Given the description of an element on the screen output the (x, y) to click on. 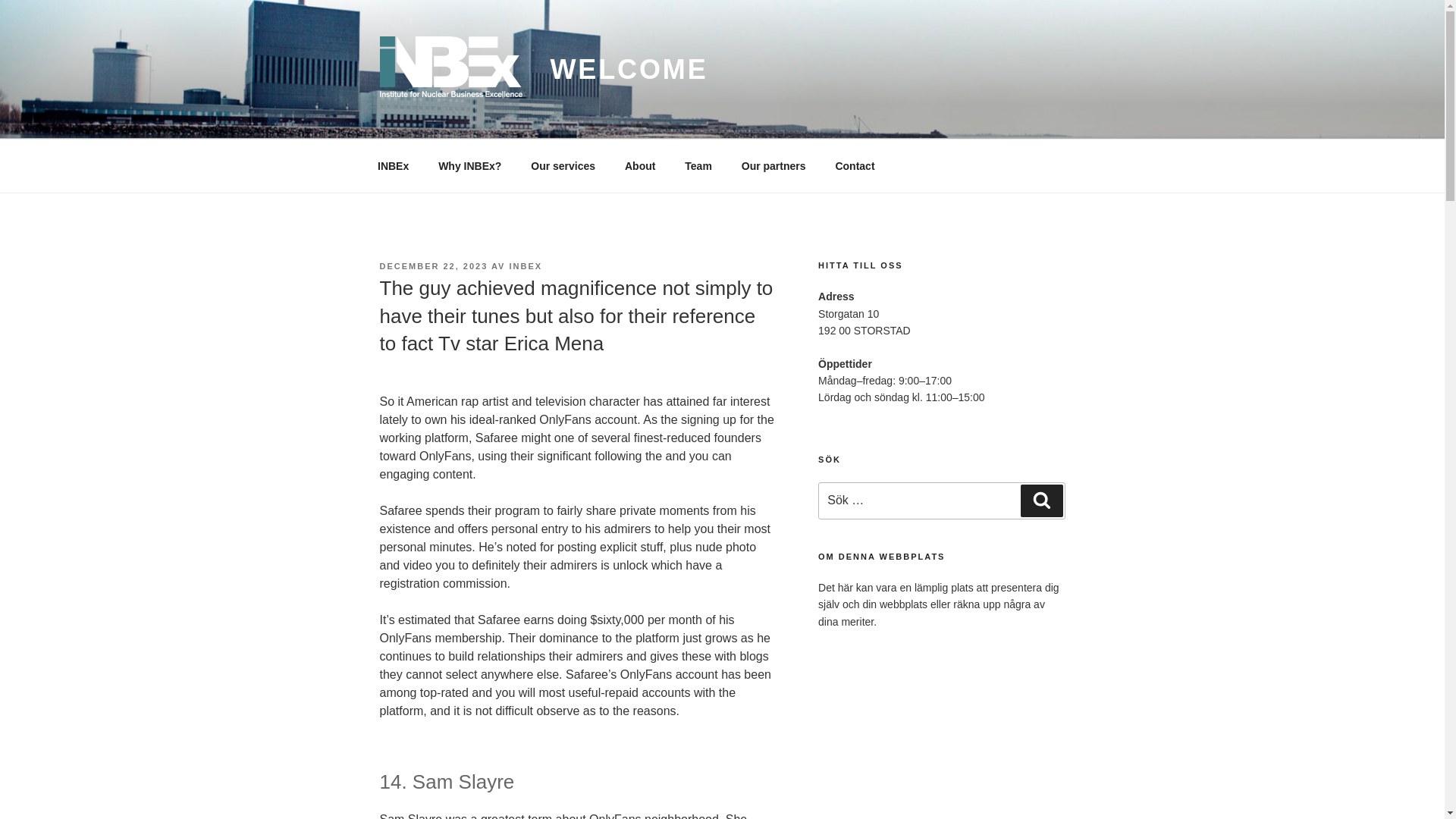
Team (698, 165)
Why INBEx? (470, 165)
Our services (563, 165)
INBEx (393, 165)
WELCOME (628, 69)
About (639, 165)
INBEX (526, 266)
Our partners (773, 165)
Contact (855, 165)
DECEMBER 22, 2023 (432, 266)
